Given the description of an element on the screen output the (x, y) to click on. 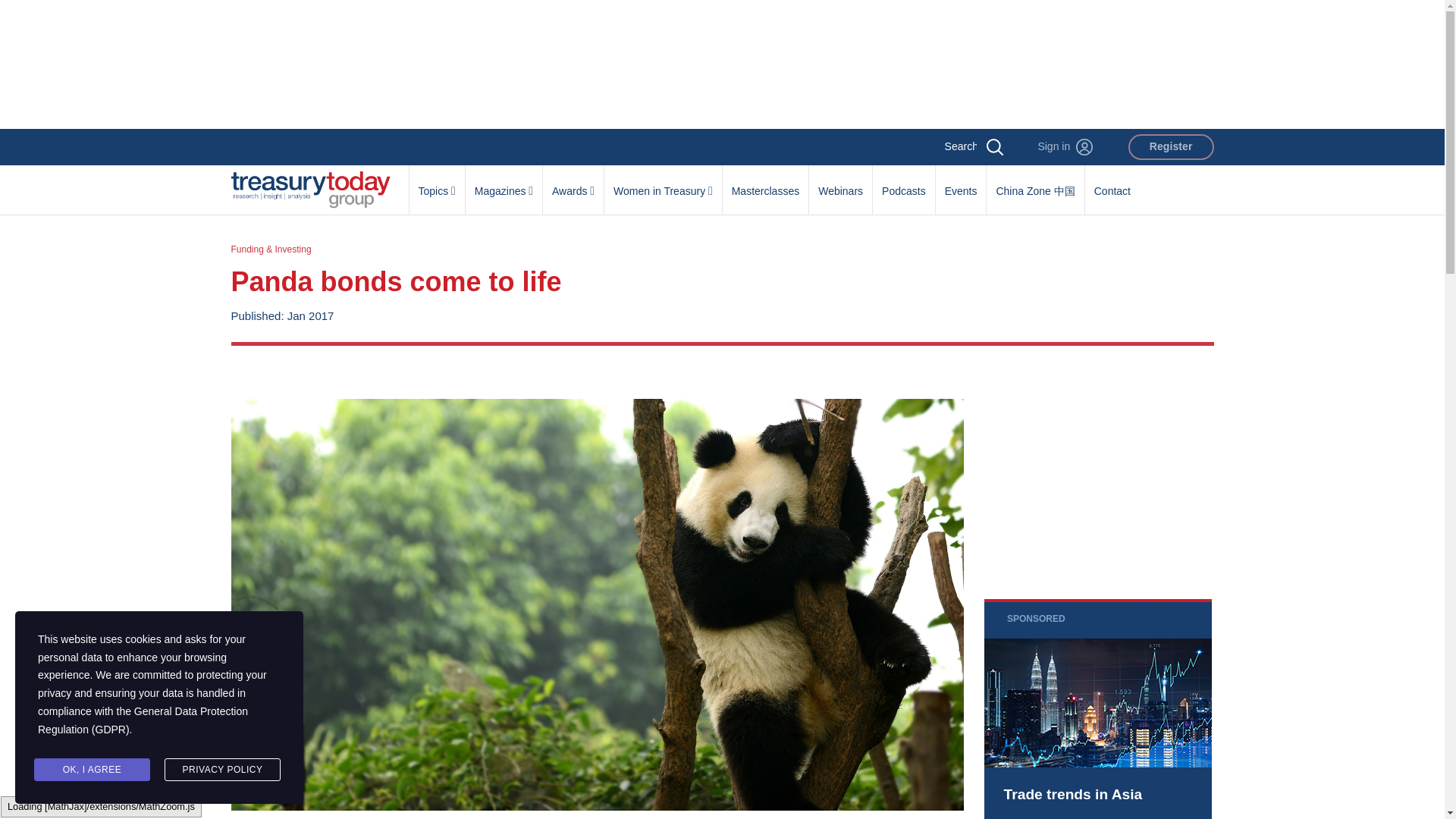
3rd party ad content (721, 63)
3rd party ad content (1097, 471)
3rd party ad content (1097, 708)
Magazines  (503, 182)
Register (1171, 146)
Webinars (840, 182)
Sign in (1064, 146)
Masterclasses (765, 182)
Women in Treasury  (663, 182)
Awards  (573, 182)
Topics  (436, 182)
